Given the description of an element on the screen output the (x, y) to click on. 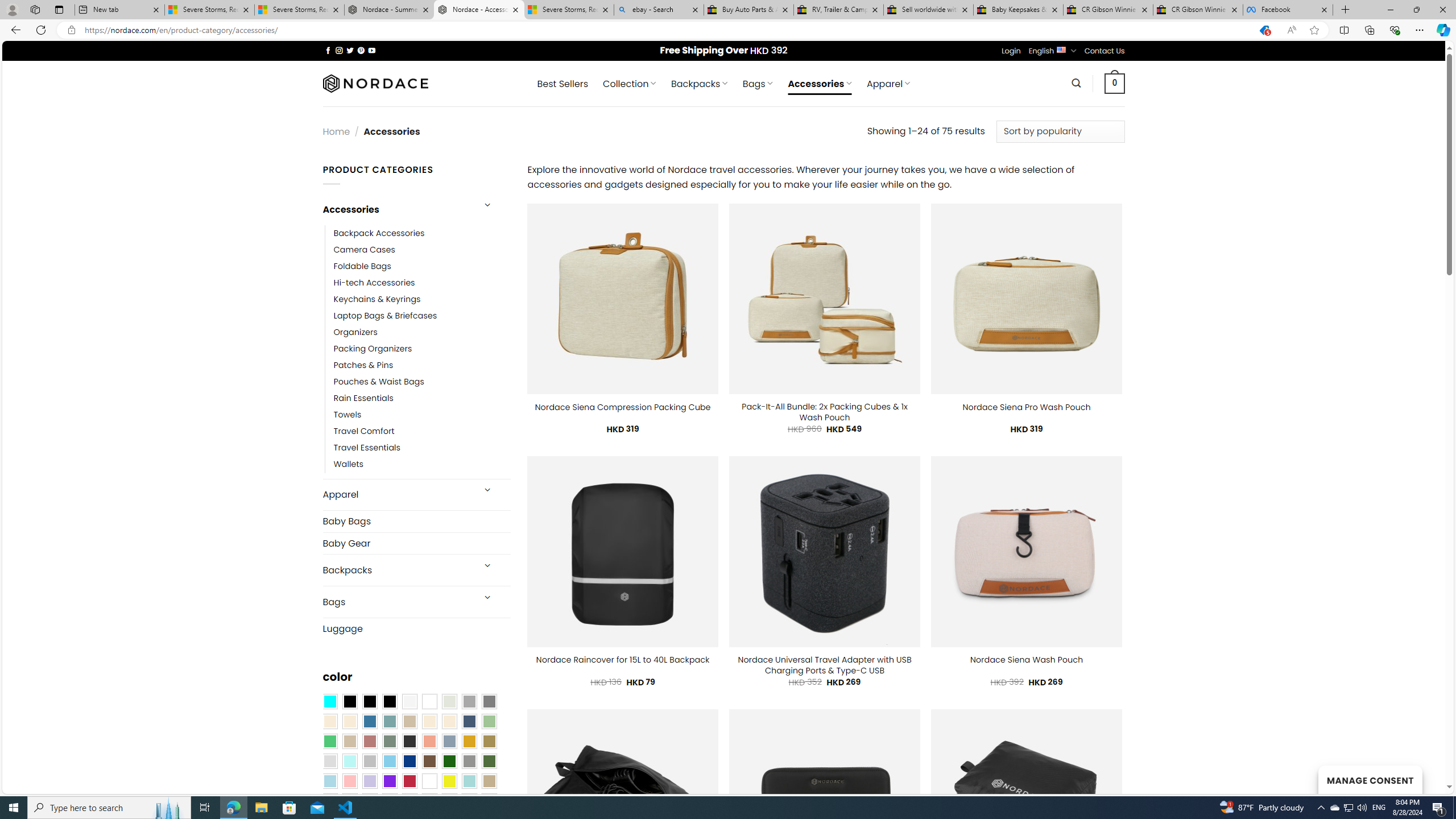
Sky Blue (389, 761)
Beige-Brown (349, 721)
This site has coupons! Shopping in Microsoft Edge, 5 (1263, 29)
Green (488, 761)
Baby Bags (416, 521)
Pink (349, 780)
Accessories (397, 209)
Pearly White (408, 701)
Nordace Raincover for 15L to 40L Backpack (622, 659)
Baby Gear (416, 543)
